Given the description of an element on the screen output the (x, y) to click on. 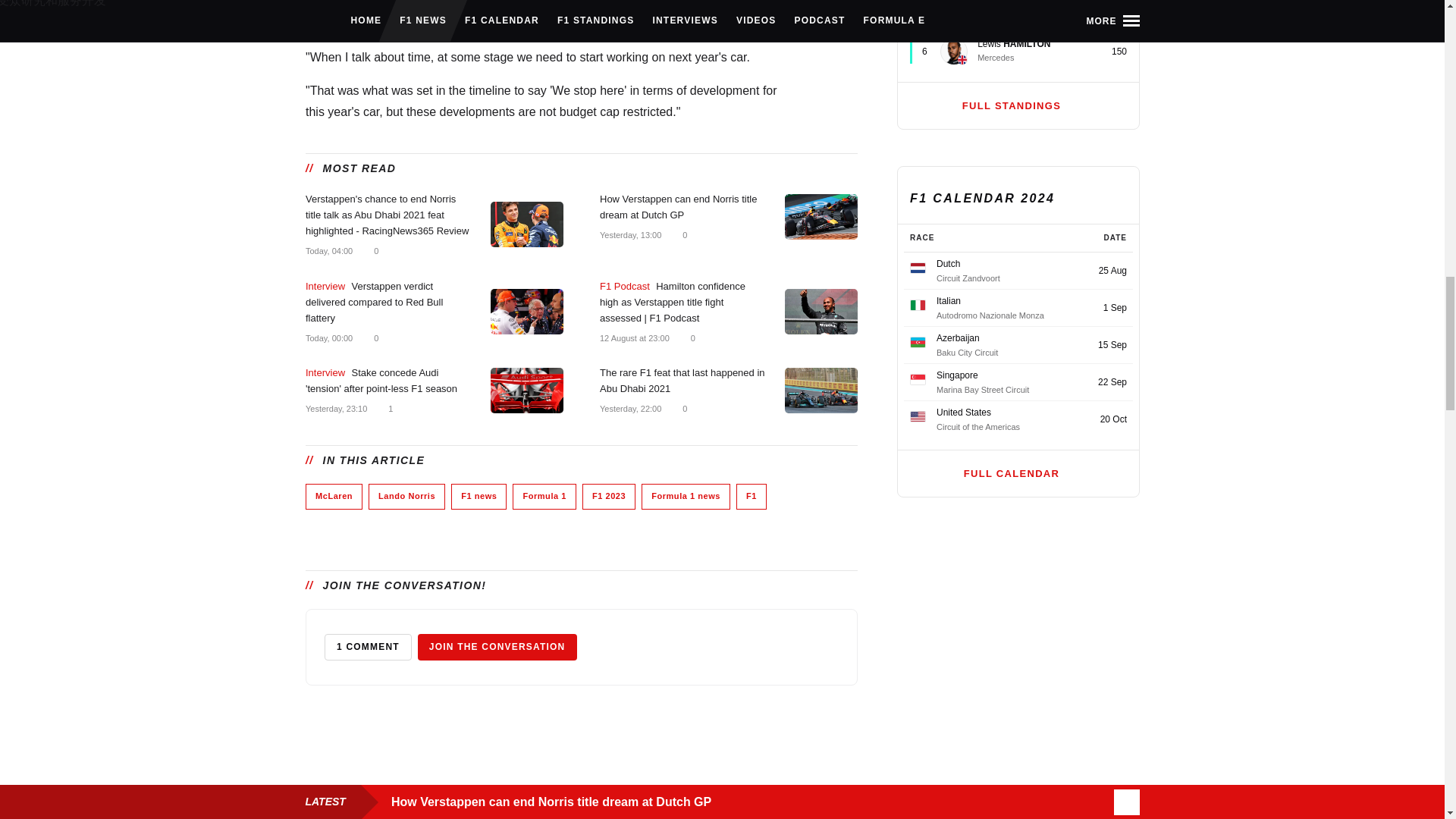
Saturday 17 August 2024 at 13:00 (629, 234)
Saturday 17 August 2024 at 23:10 (335, 407)
Sunday 18 August 2024 at 04:00 (328, 249)
Monday 12 August 2024 at 23:00 (633, 337)
Sunday 18 August 2024 at 00:00 (328, 337)
